Given the description of an element on the screen output the (x, y) to click on. 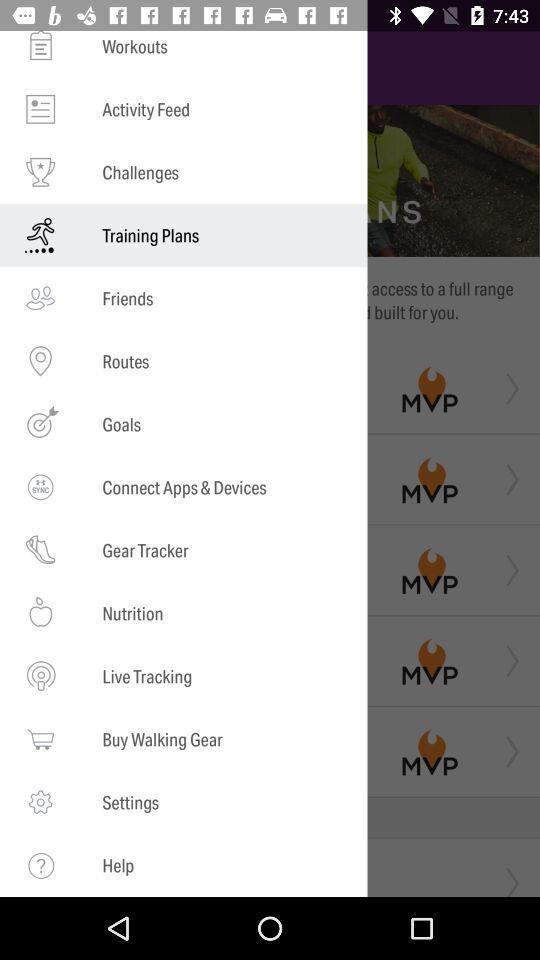
select the second arrow from the top which is right to the mvp (507, 479)
select the second arrow from the bottom which is right to the mvp (507, 752)
click on the shoe option which says gear tracker (40, 550)
select the icon which is left to the text live tracking (40, 676)
select the icon which is left to the text buy walking gear (40, 739)
